Given the description of an element on the screen output the (x, y) to click on. 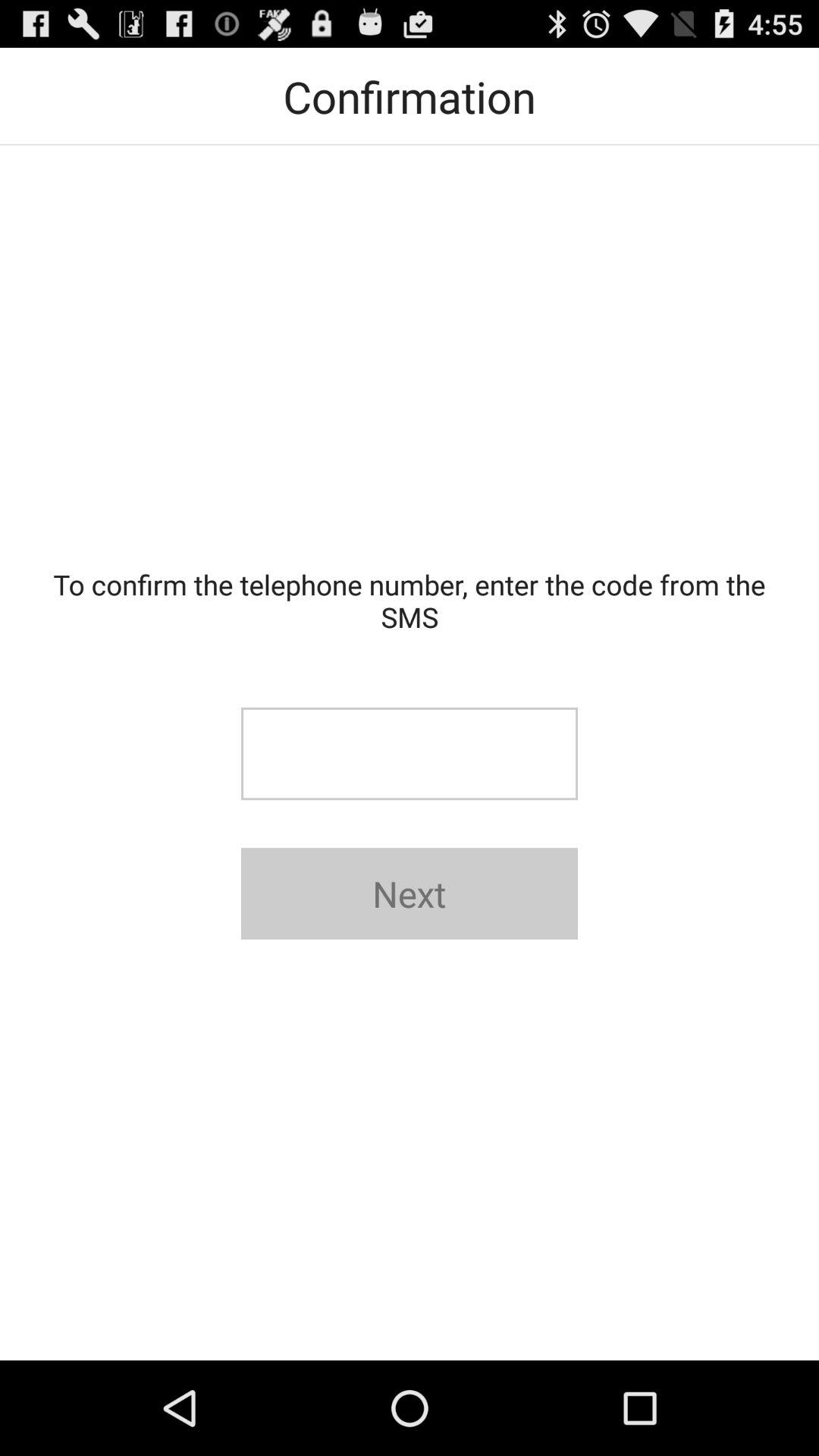
select icon below the to confirm the (409, 753)
